Given the description of an element on the screen output the (x, y) to click on. 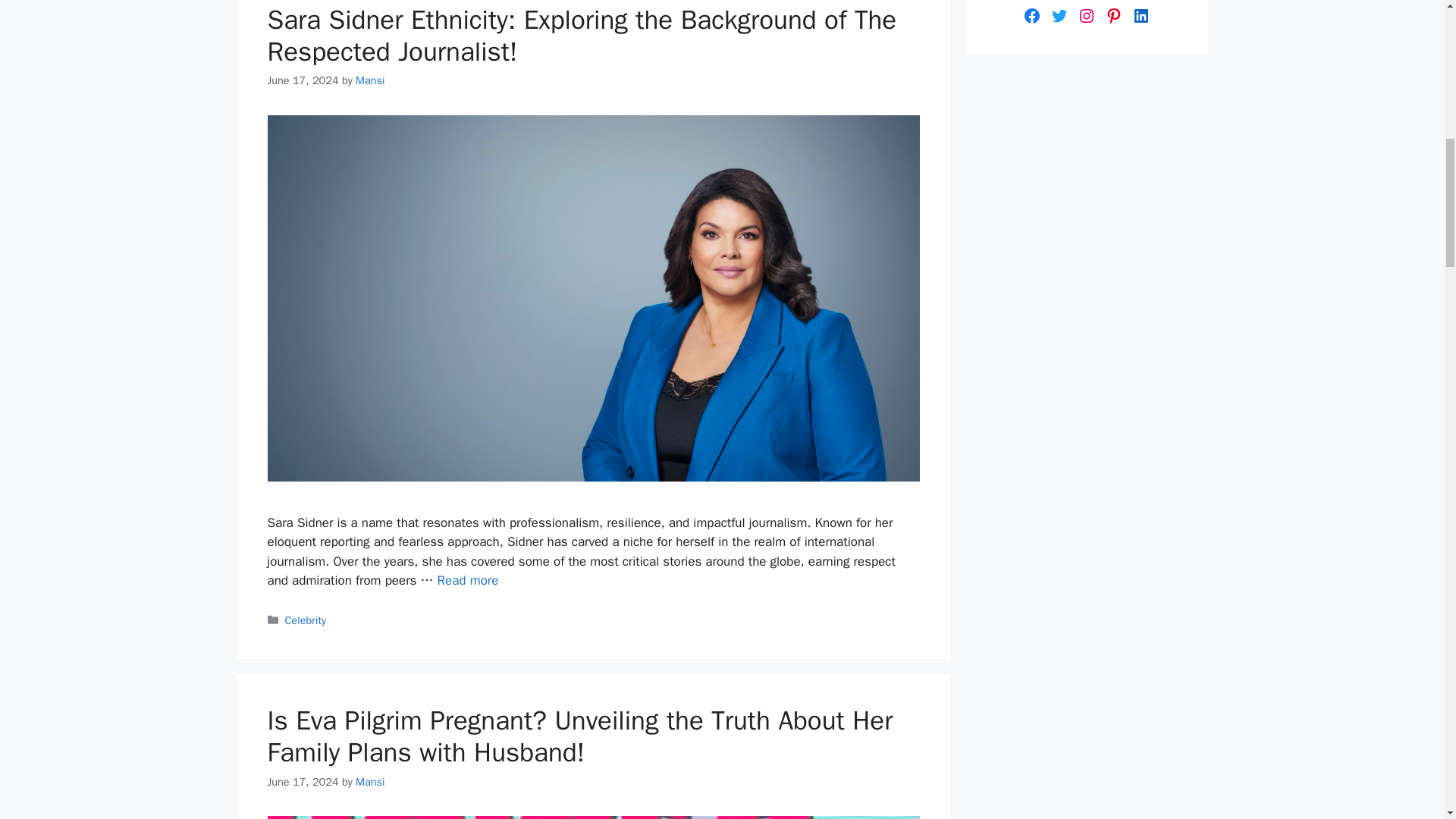
Read more (468, 580)
View all posts by Mansi (369, 781)
Mansi (369, 79)
View all posts by Mansi (369, 79)
Mansi (369, 781)
Celebrity (305, 620)
